Given the description of an element on the screen output the (x, y) to click on. 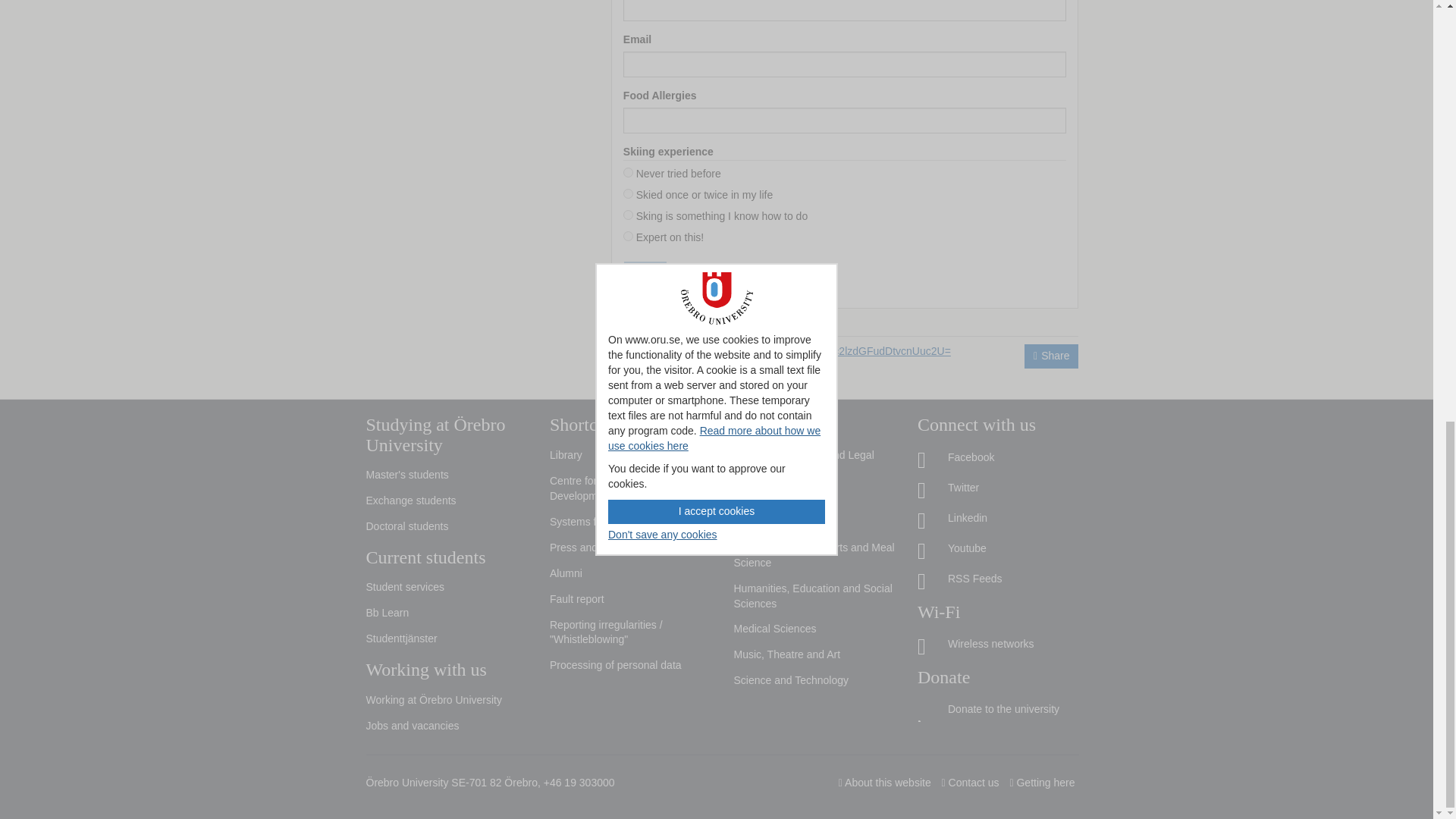
Expert on this!  (628, 235)
Skied once or twice in my life (628, 194)
Never tried before (628, 172)
Behavioural, Social and Legal Sciences (814, 463)
Donate to the university (997, 709)
Sking is something I know how to do (628, 214)
